Given the description of an element on the screen output the (x, y) to click on. 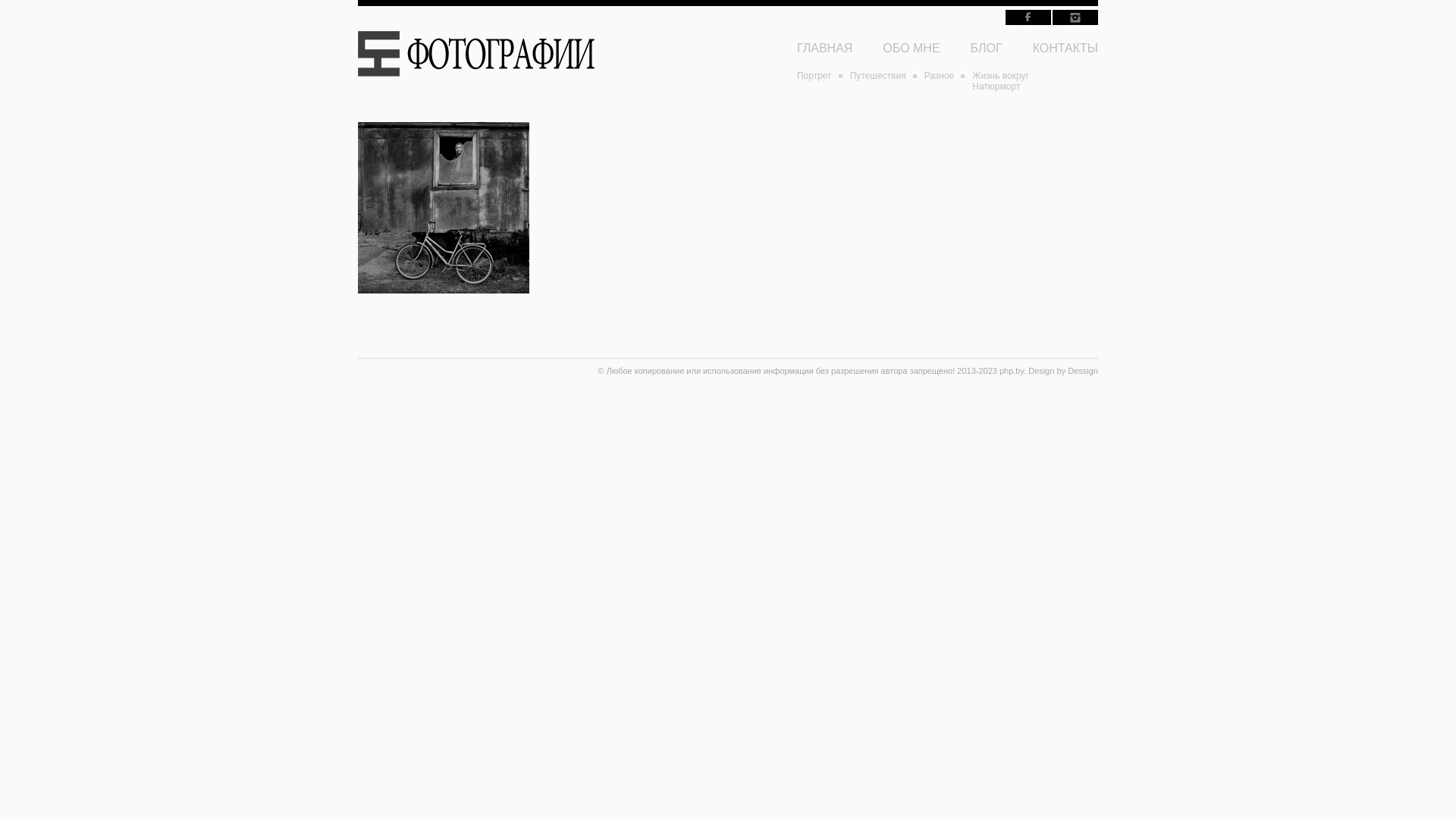
Dessign Element type: text (1082, 370)
